Given the description of an element on the screen output the (x, y) to click on. 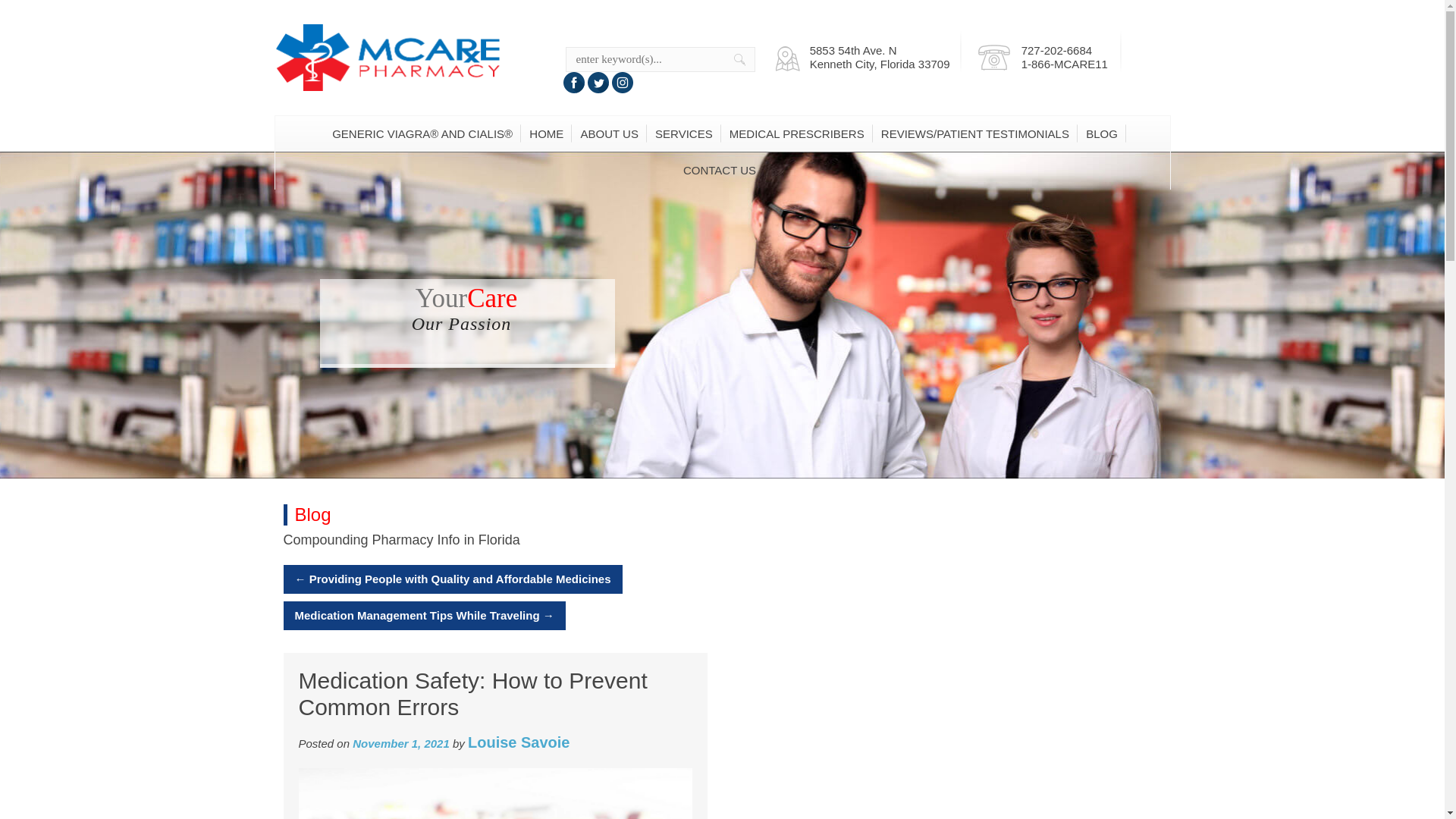
1-866-MCARE11 (1065, 63)
SERVICES (684, 134)
Louise Savoie (518, 742)
HOME (545, 134)
CONTACT US (719, 170)
727-202-6684 (1057, 50)
View all posts by Louise Savoie (518, 742)
10:06 pm (400, 743)
MEDICAL PRESCRIBERS (796, 134)
BLOG (1101, 134)
ABOUT US (609, 134)
November 1, 2021 (400, 743)
